Given the description of an element on the screen output the (x, y) to click on. 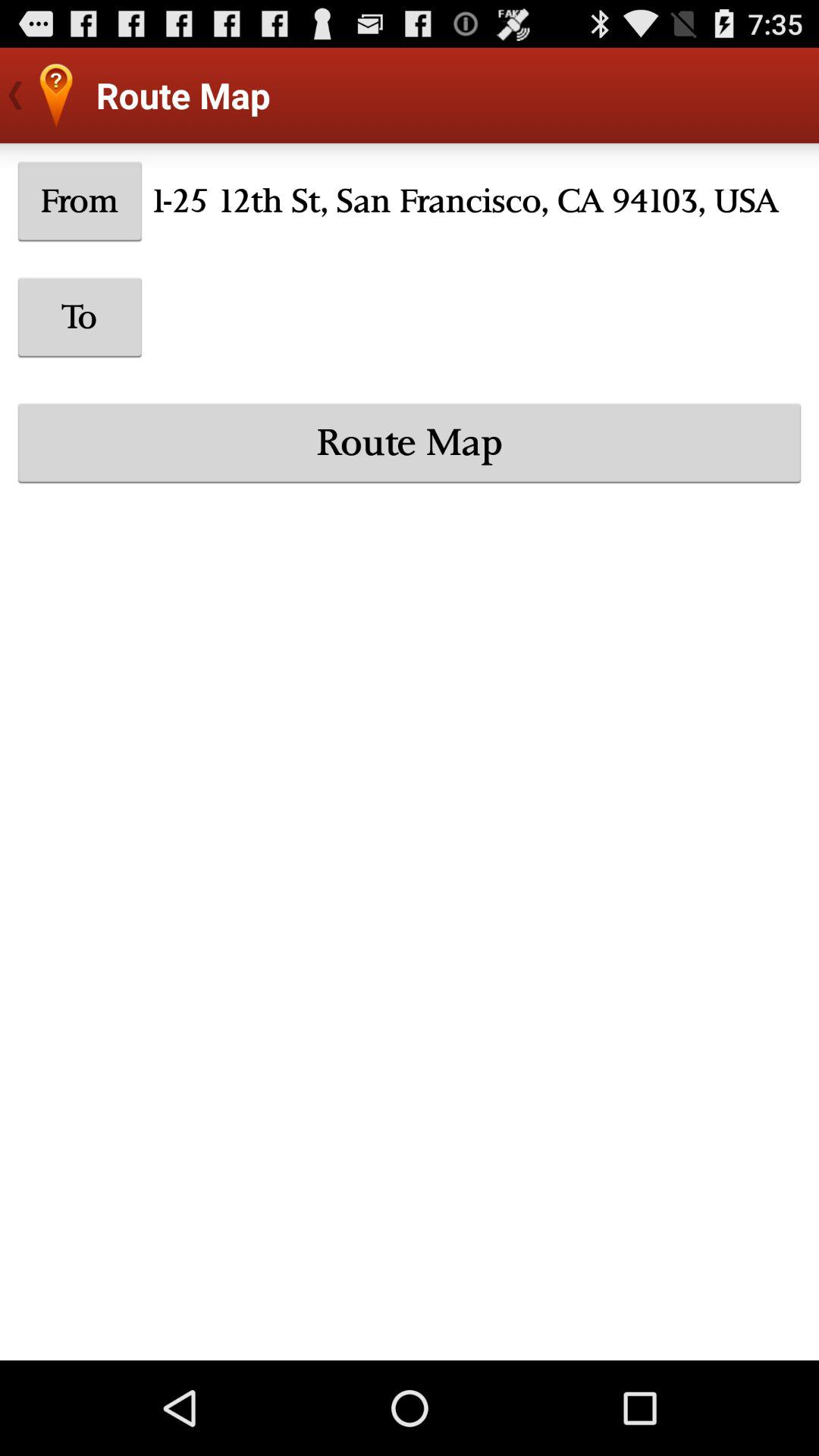
select the icon next to 1 25 12th icon (79, 201)
